Given the description of an element on the screen output the (x, y) to click on. 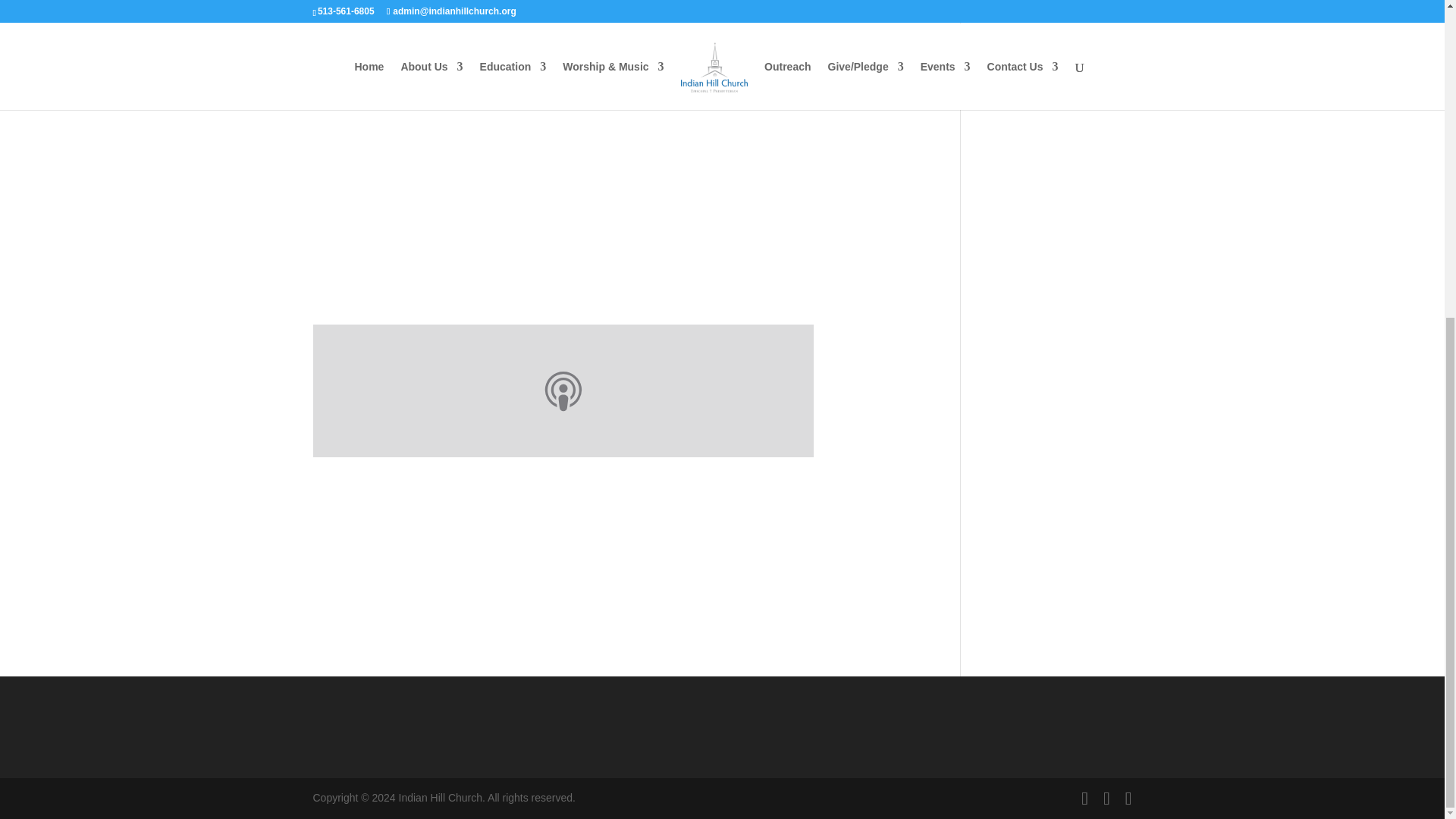
Spotify Embed: The Cost of Discipleship: June 26th, 2022 (614, 520)
